Given the description of an element on the screen output the (x, y) to click on. 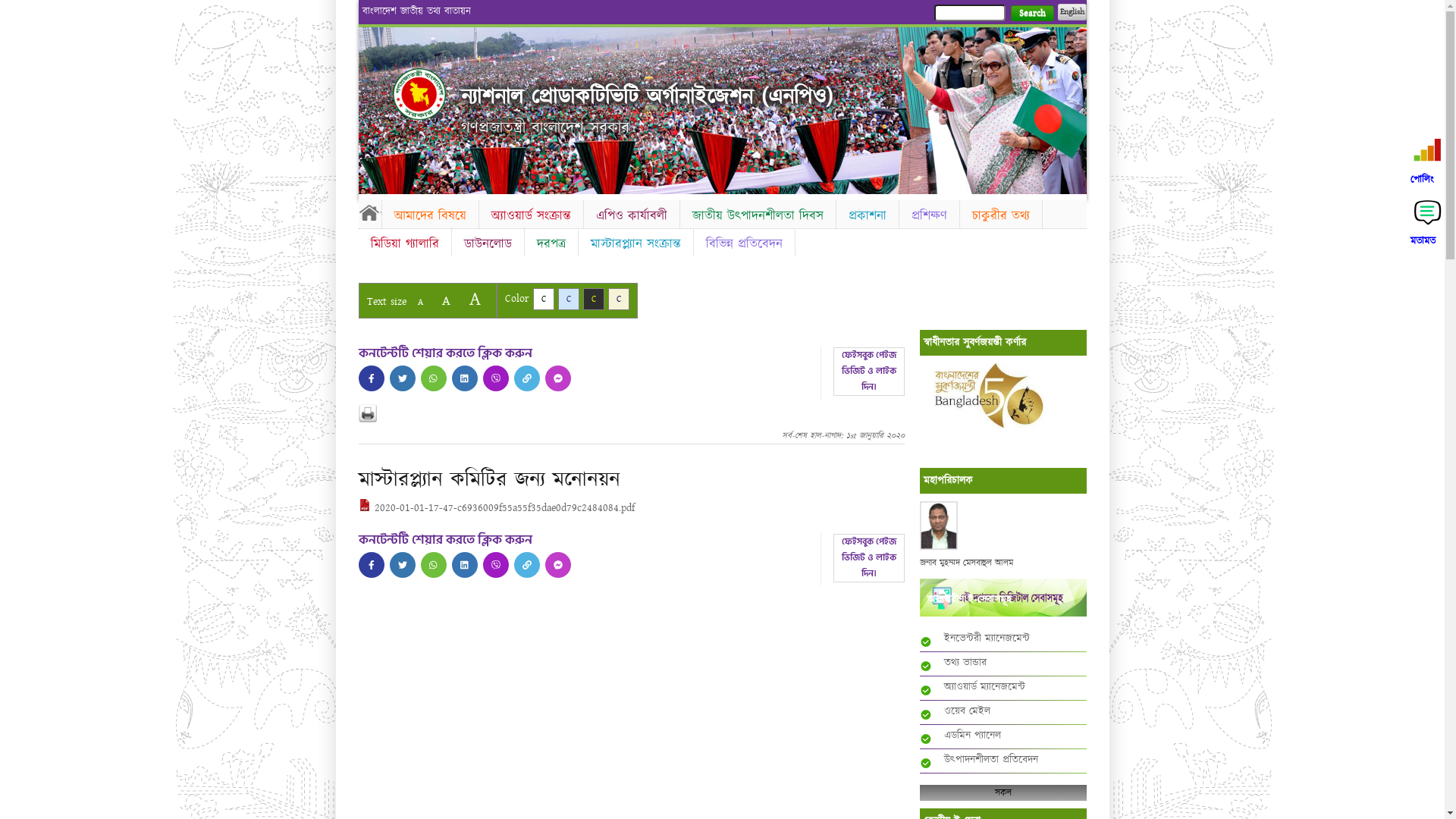
C Element type: text (592, 299)
English Element type: text (1071, 11)
A Element type: text (419, 301)
C Element type: text (618, 299)
C Element type: text (542, 299)
Search Element type: text (1031, 13)
A Element type: text (474, 298)
Home Element type: hover (418, 93)
C Element type: text (568, 299)
Home Element type: hover (368, 211)
2020-01-01-17-47-c6936009f55a55f35dae0d79c2484084.pdf Element type: text (495, 507)
A Element type: text (445, 300)
